Given the description of an element on the screen output the (x, y) to click on. 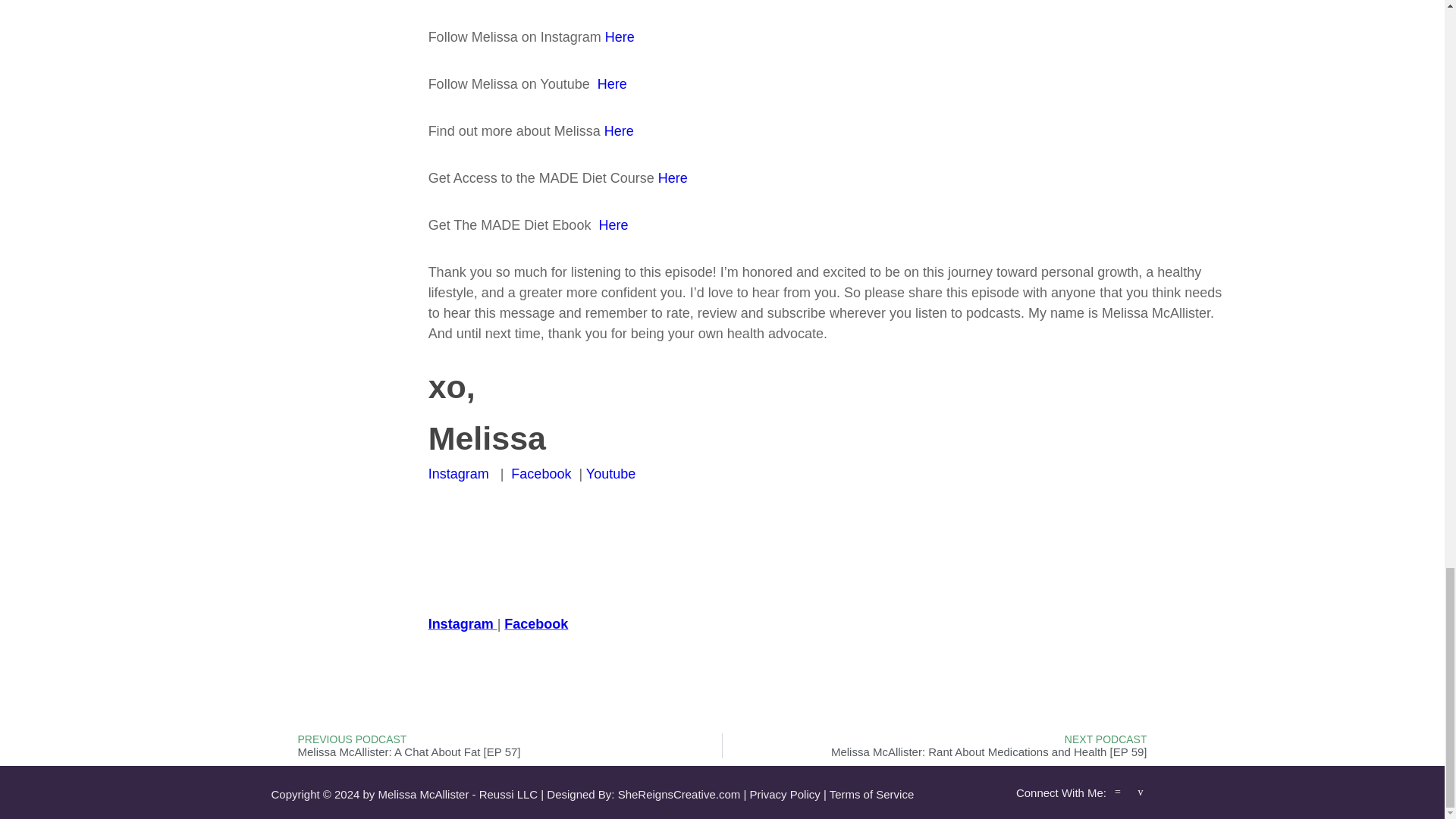
Privacy Policy (784, 793)
Here (619, 37)
Here (672, 177)
 Facebook (538, 473)
SheReignsCreative.com (679, 793)
Instagram (458, 473)
Youtube (610, 473)
 Here (610, 224)
Facebook (535, 623)
  Here (608, 83)
